Given the description of an element on the screen output the (x, y) to click on. 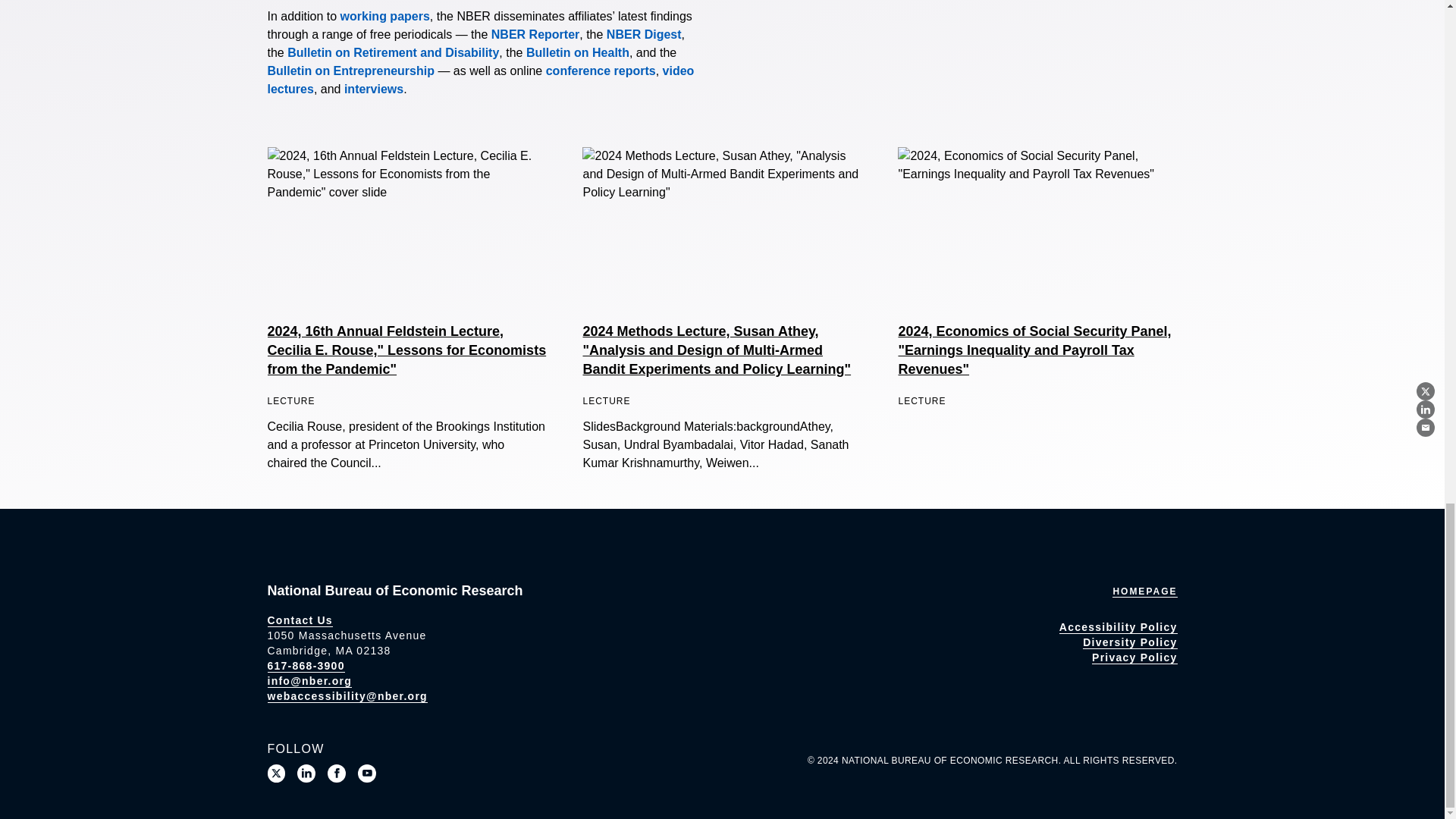
Research Spotlights (373, 88)
Working Papers (384, 15)
Lectures (480, 79)
Conferences (601, 70)
